Given the description of an element on the screen output the (x, y) to click on. 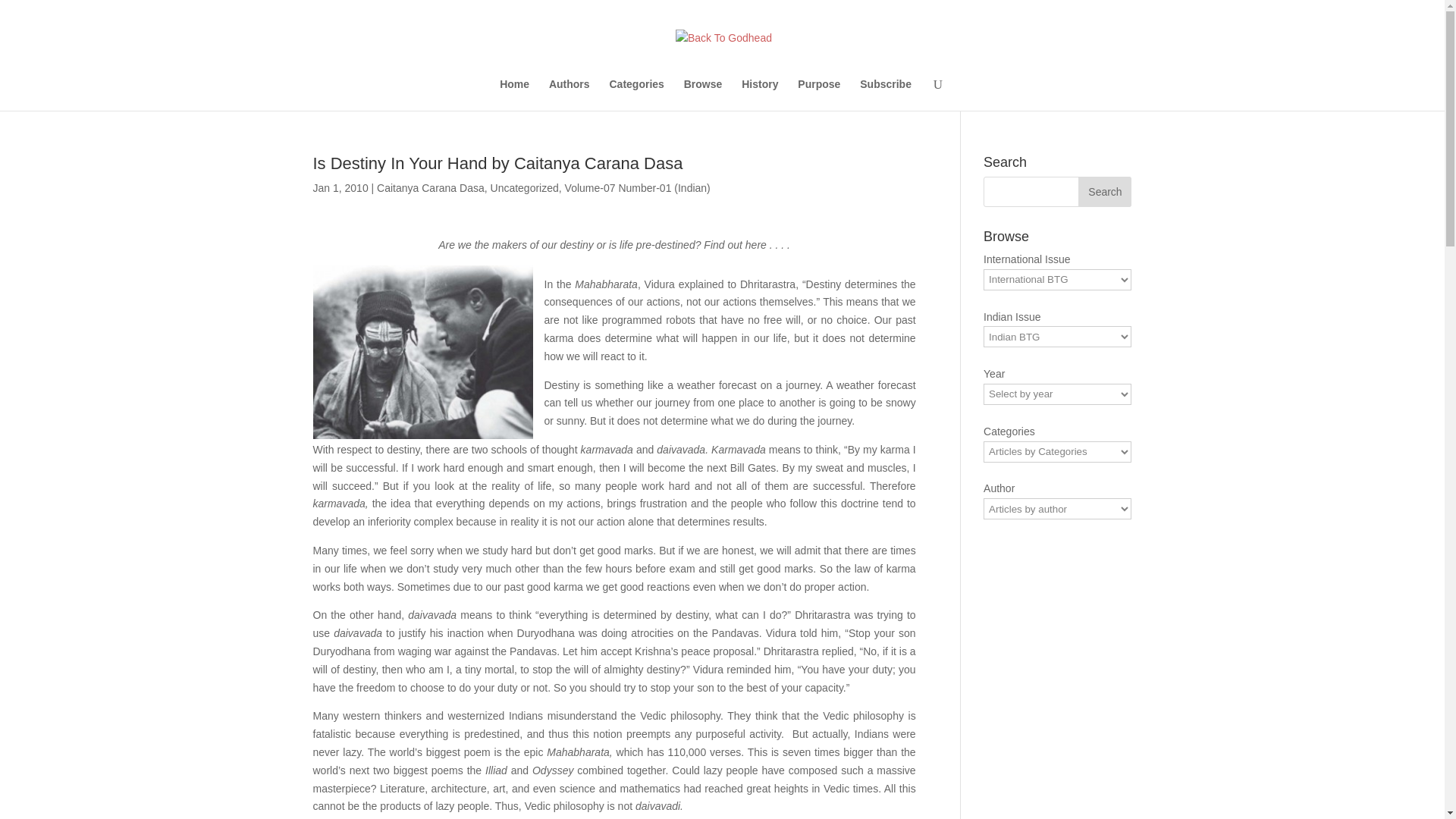
Subscribe (885, 94)
Home (514, 94)
Browse (703, 94)
Authors (568, 94)
Browse (703, 94)
Is Destiny in Your Hand (422, 351)
Purpose (818, 94)
Authors (568, 94)
Categories (636, 94)
History (759, 94)
